Given the description of an element on the screen output the (x, y) to click on. 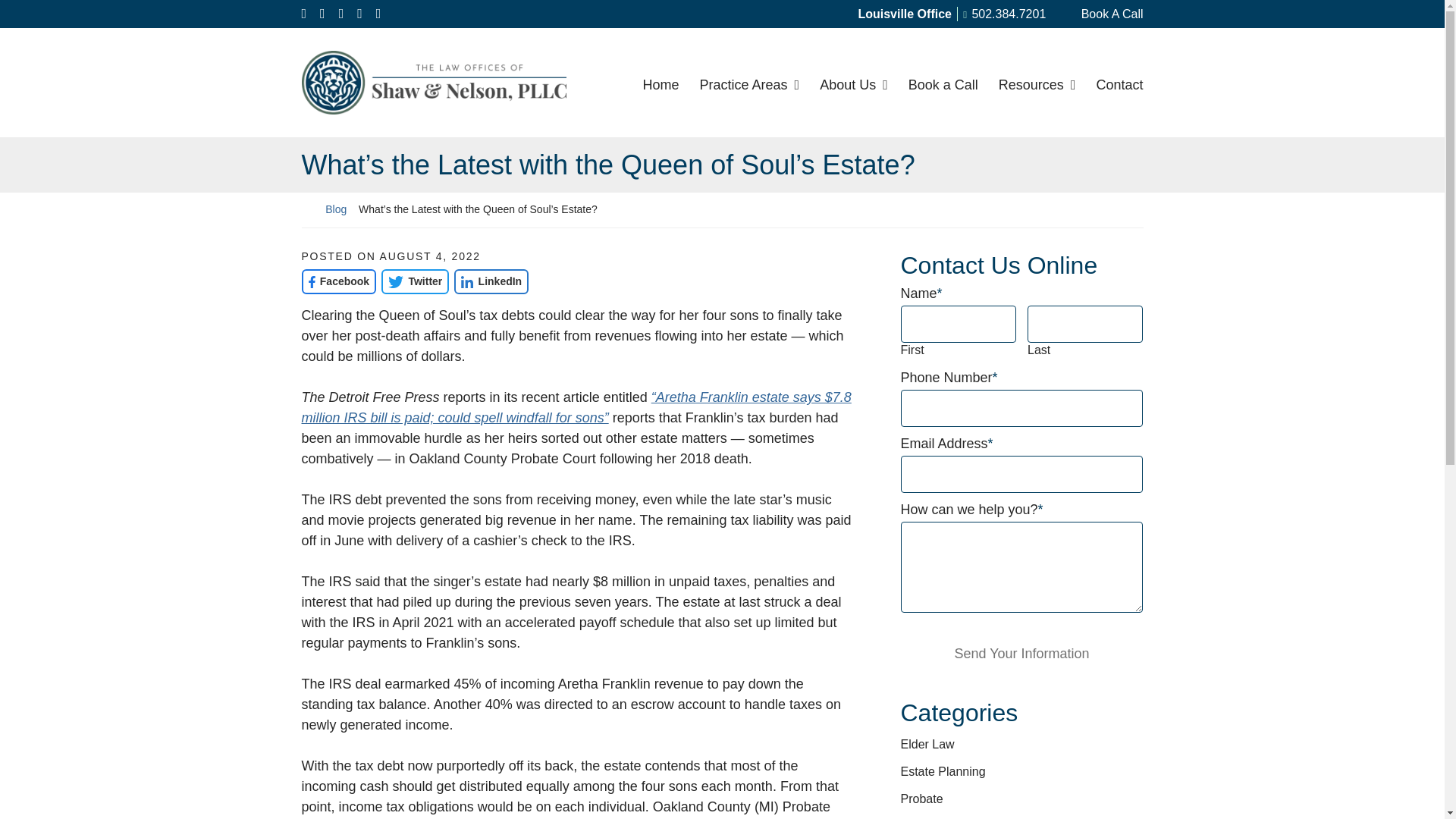
Home (660, 82)
Estate Planning (943, 771)
Elder Law (928, 744)
Practice Areas (749, 82)
Book A Call (1101, 13)
Contact (1120, 82)
Return home (307, 209)
Blog (335, 209)
LinkedIn (491, 281)
Book a Call (942, 82)
